Given the description of an element on the screen output the (x, y) to click on. 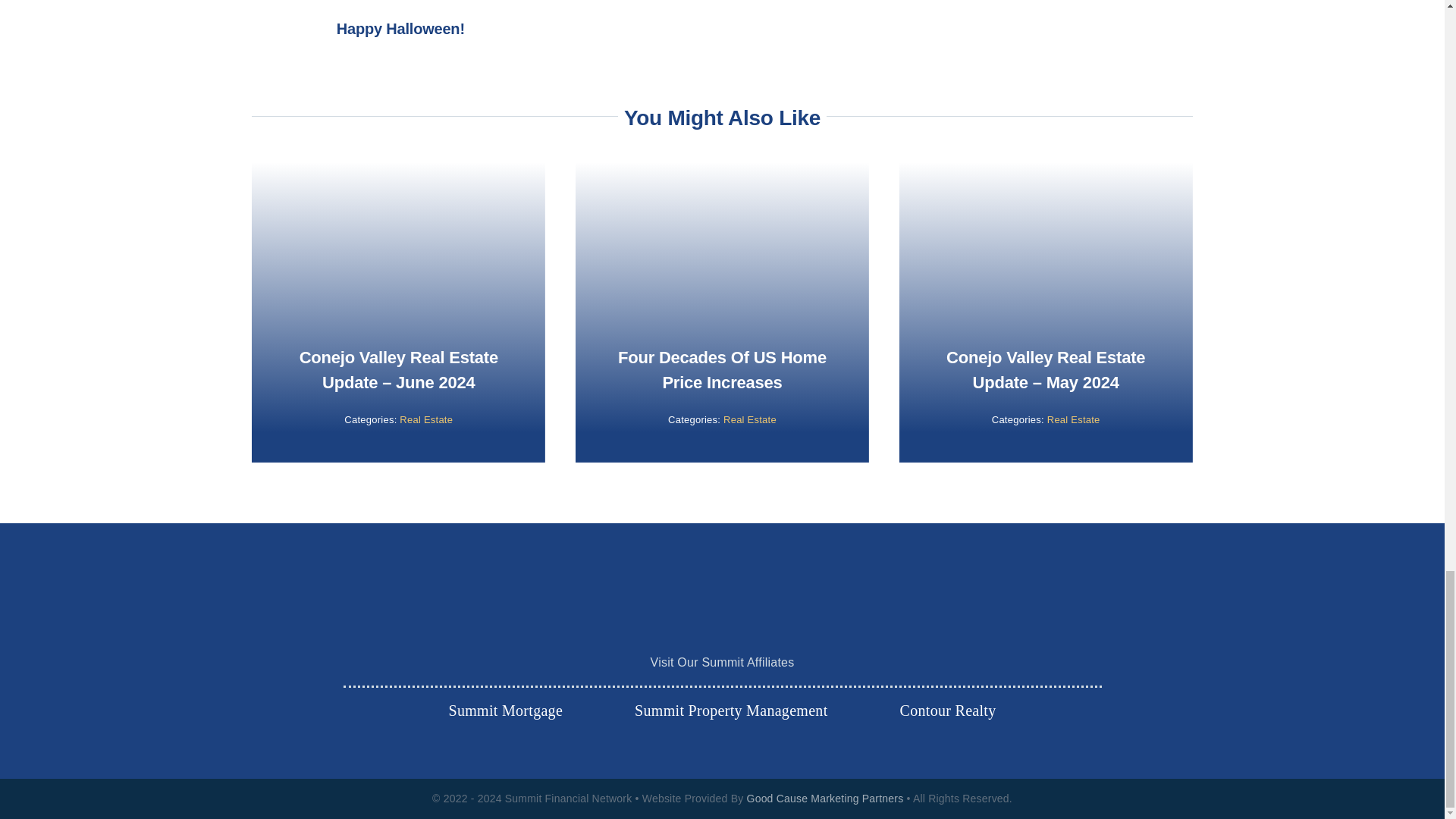
Four Decades Of US Home Price Increases (722, 370)
Real Estate (749, 419)
Real Estate (1073, 419)
Real Estate (425, 419)
